Given the description of an element on the screen output the (x, y) to click on. 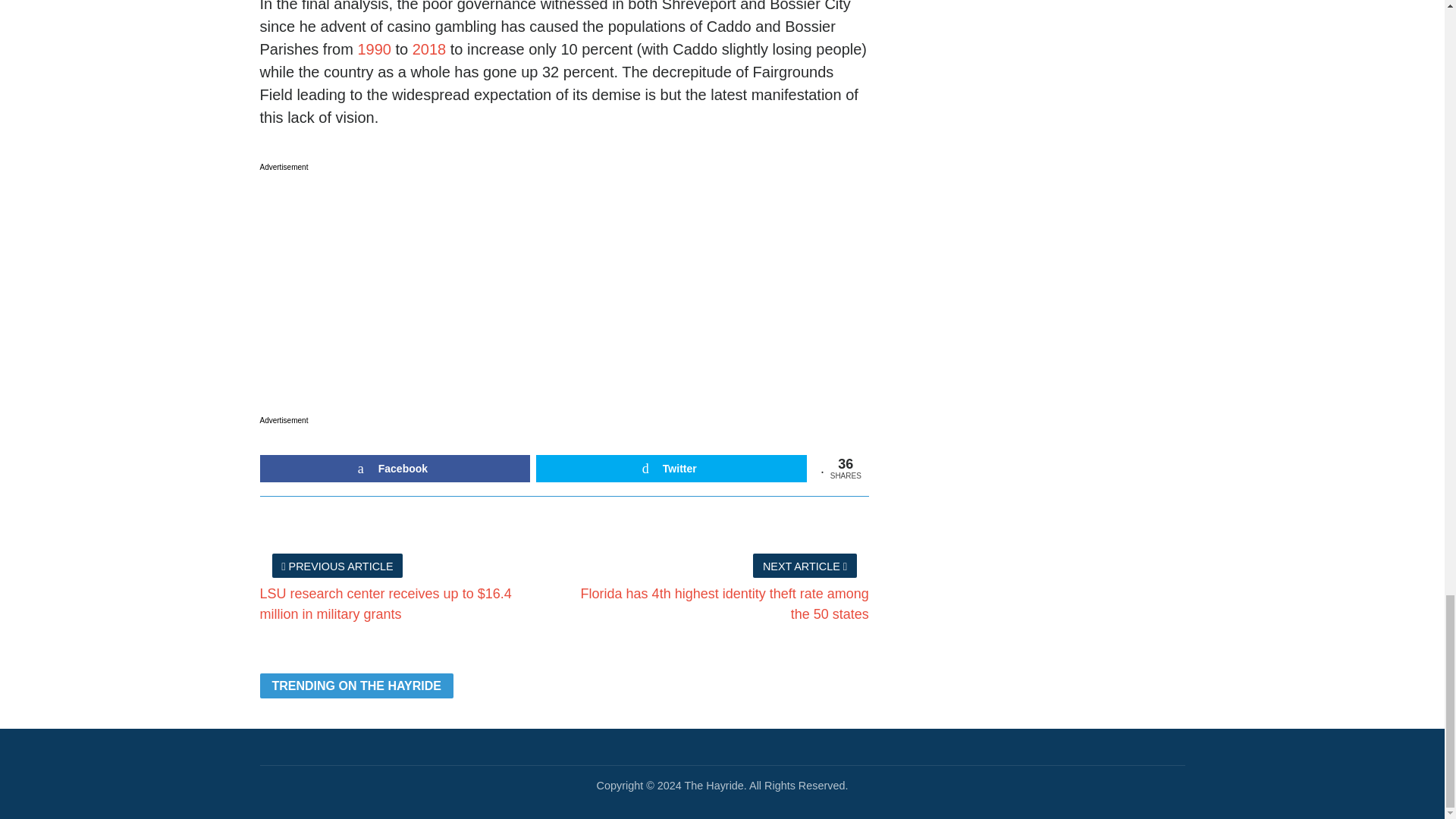
Share on Facebook (394, 468)
Share on Twitter (670, 468)
